Given the description of an element on the screen output the (x, y) to click on. 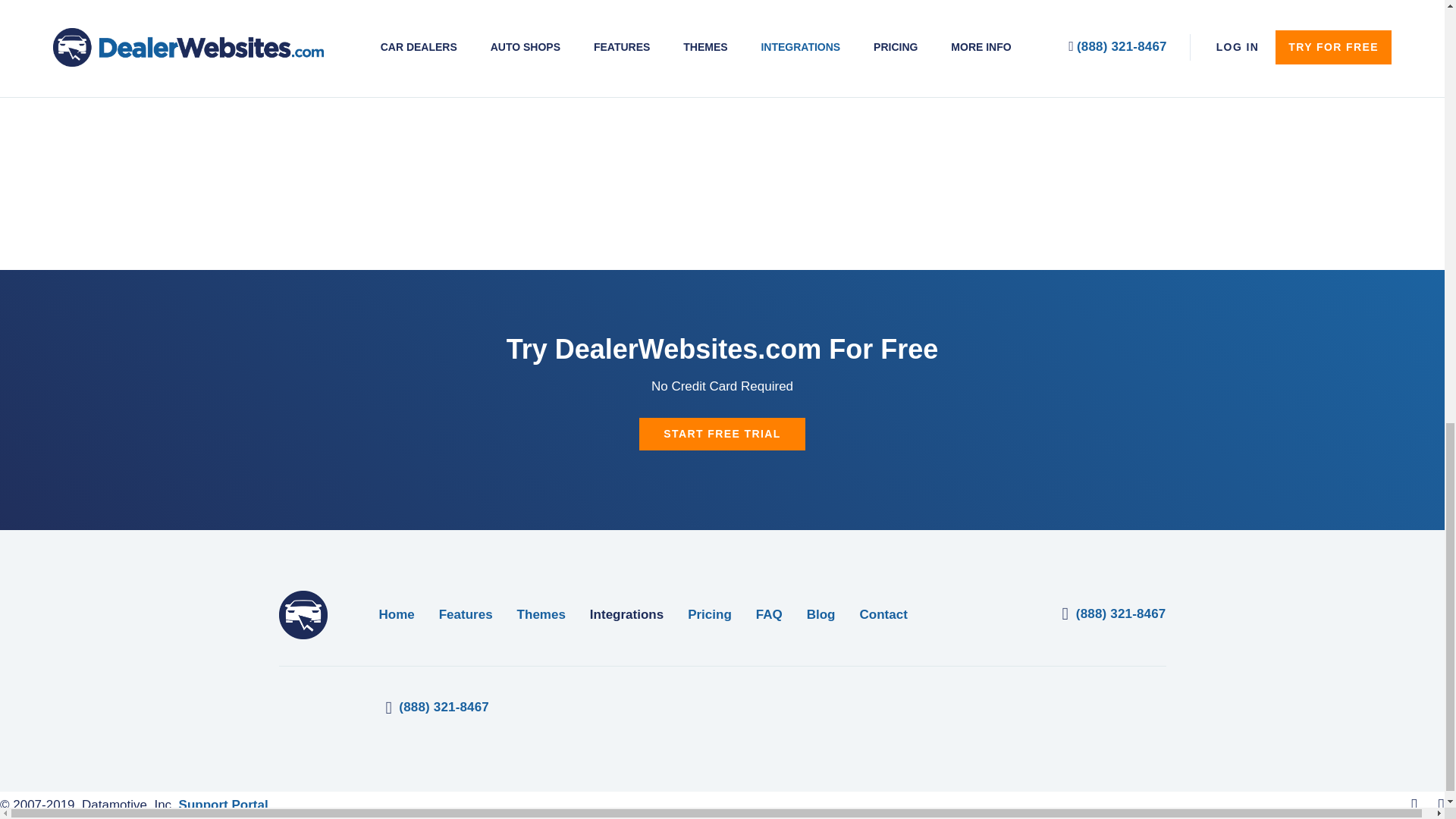
Home (396, 614)
Integrations (626, 614)
Blog (820, 614)
Support Portal (223, 804)
Features (466, 614)
DealerWebsites.com (303, 614)
Themes (541, 614)
Contact (883, 614)
Pricing (709, 614)
START FREE TRIAL (722, 433)
